Given the description of an element on the screen output the (x, y) to click on. 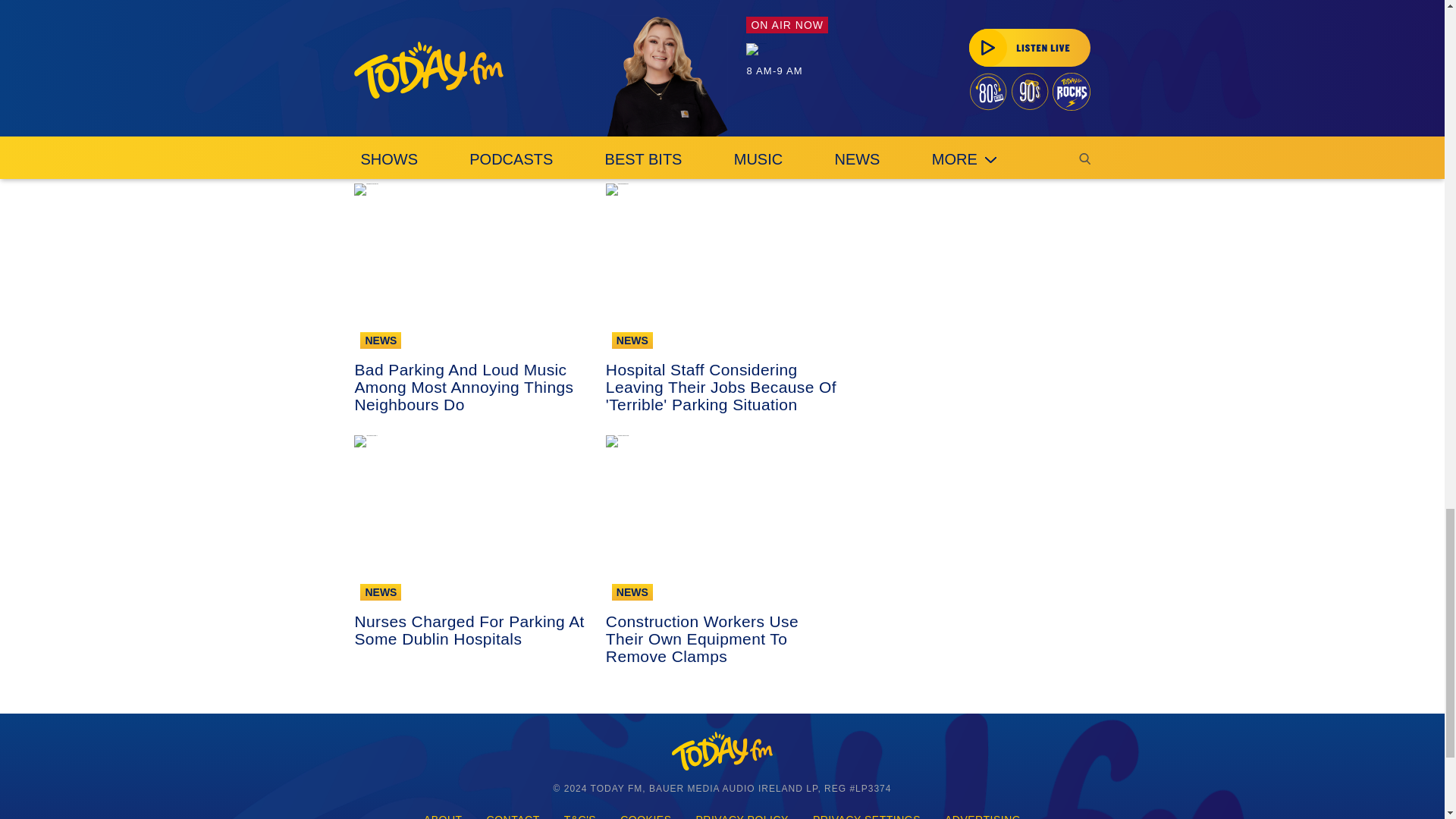
Privacy settings (866, 812)
Privacy Policy (742, 812)
Cookies (645, 812)
Contact (512, 812)
About (443, 812)
Advertising (982, 812)
